Given the description of an element on the screen output the (x, y) to click on. 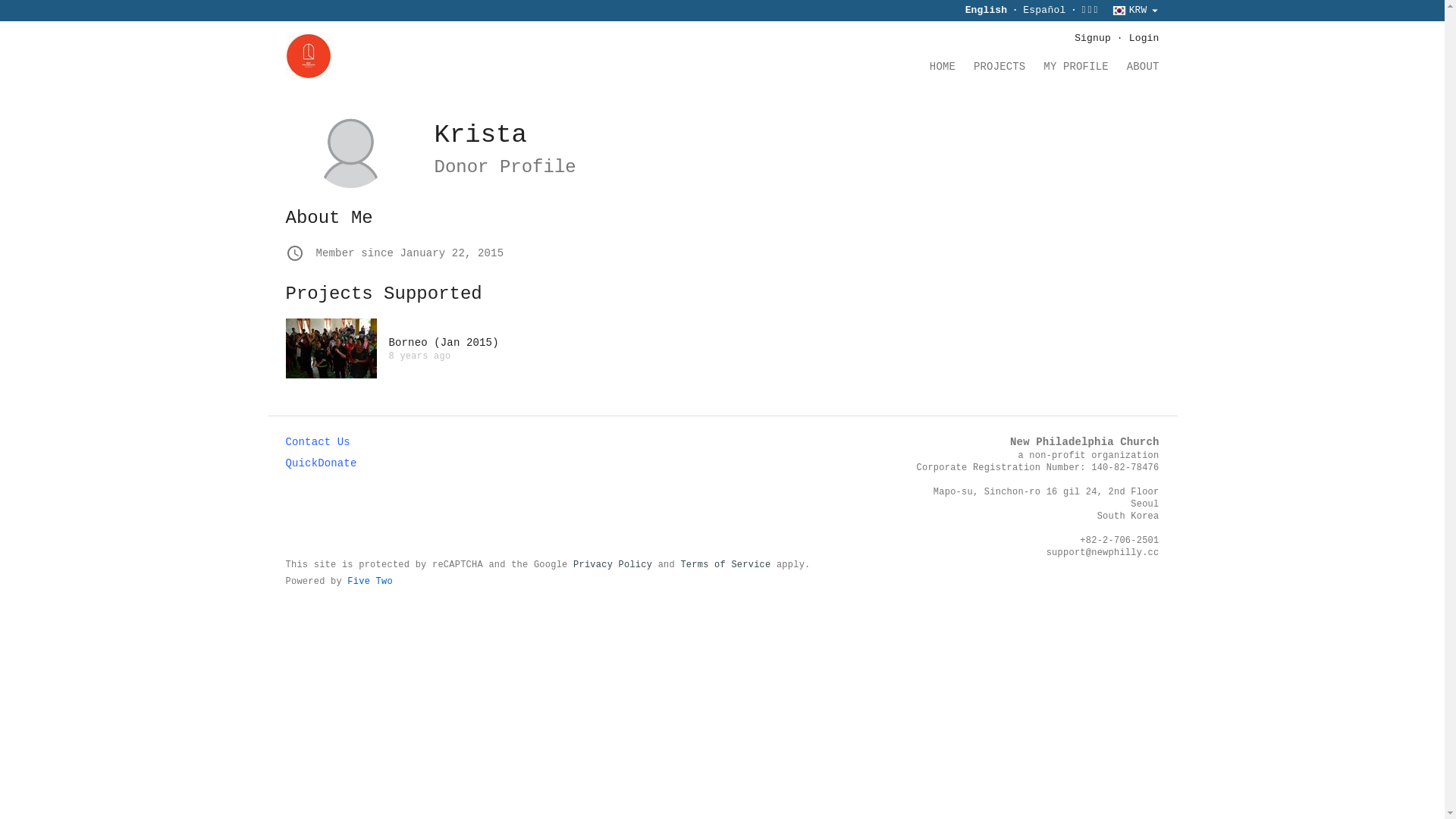
Borneo (Jan 2015) Element type: text (443, 342)
Five Two Element type: text (369, 581)
HOME Element type: text (942, 71)
Contact Us Element type: text (317, 442)
MY PROFILE Element type: text (1075, 71)
ABOUT Element type: text (1143, 71)
QuickDonate Element type: text (320, 463)
Login Element type: text (1144, 37)
Terms of Service Element type: text (725, 564)
Privacy Policy Element type: text (612, 564)
Signup Element type: text (1092, 37)
New Philadelphia Church Element type: text (1084, 442)
Krista Element type: text (479, 134)
PROJECTS Element type: text (999, 71)
